Given the description of an element on the screen output the (x, y) to click on. 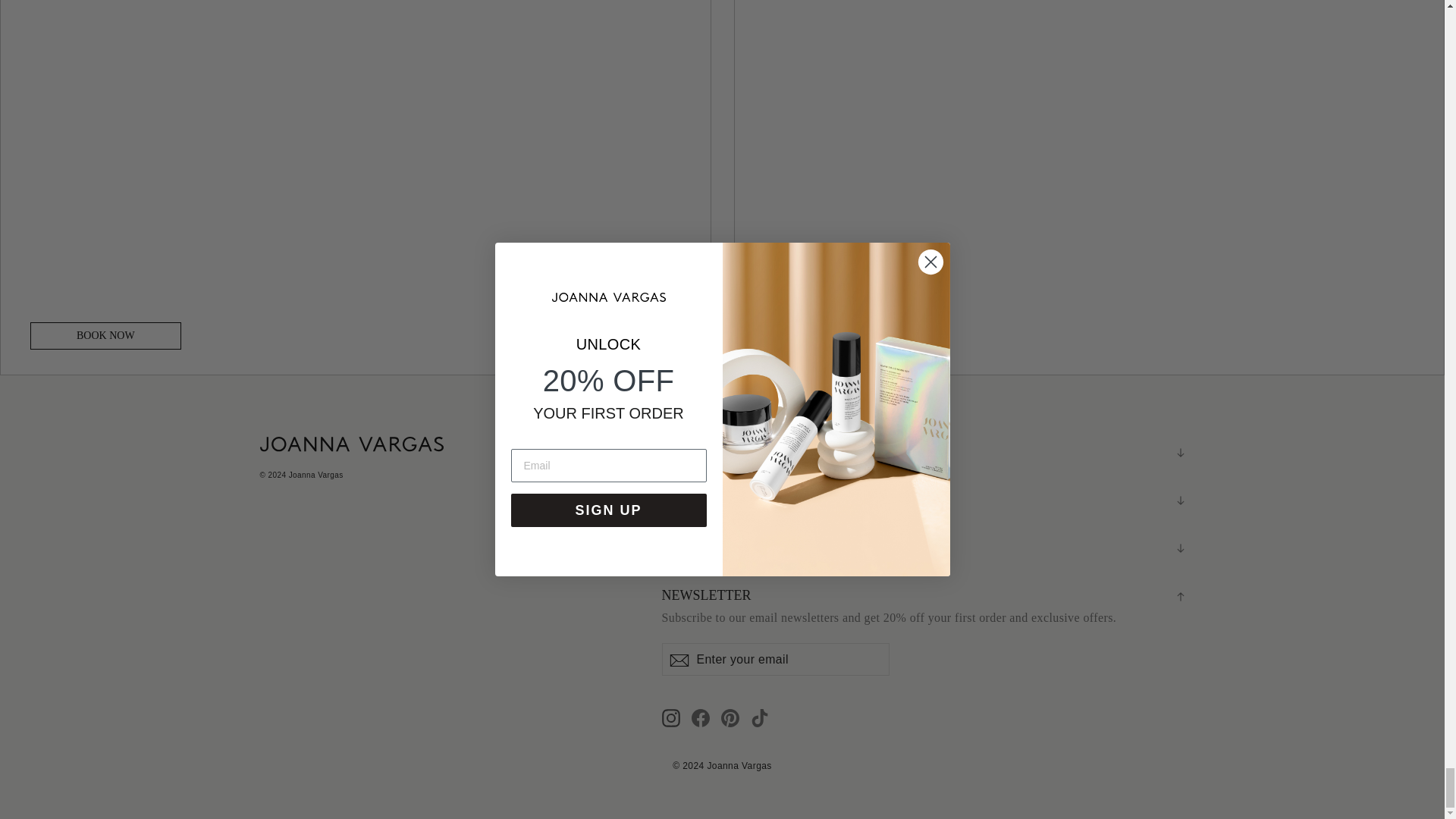
Joanna Vargas on Facebook (700, 718)
Joanna Vargas on Pinterest (729, 718)
Joanna Vargas on TikTok (759, 718)
Joanna Vargas on Instagram (670, 718)
